Given the description of an element on the screen output the (x, y) to click on. 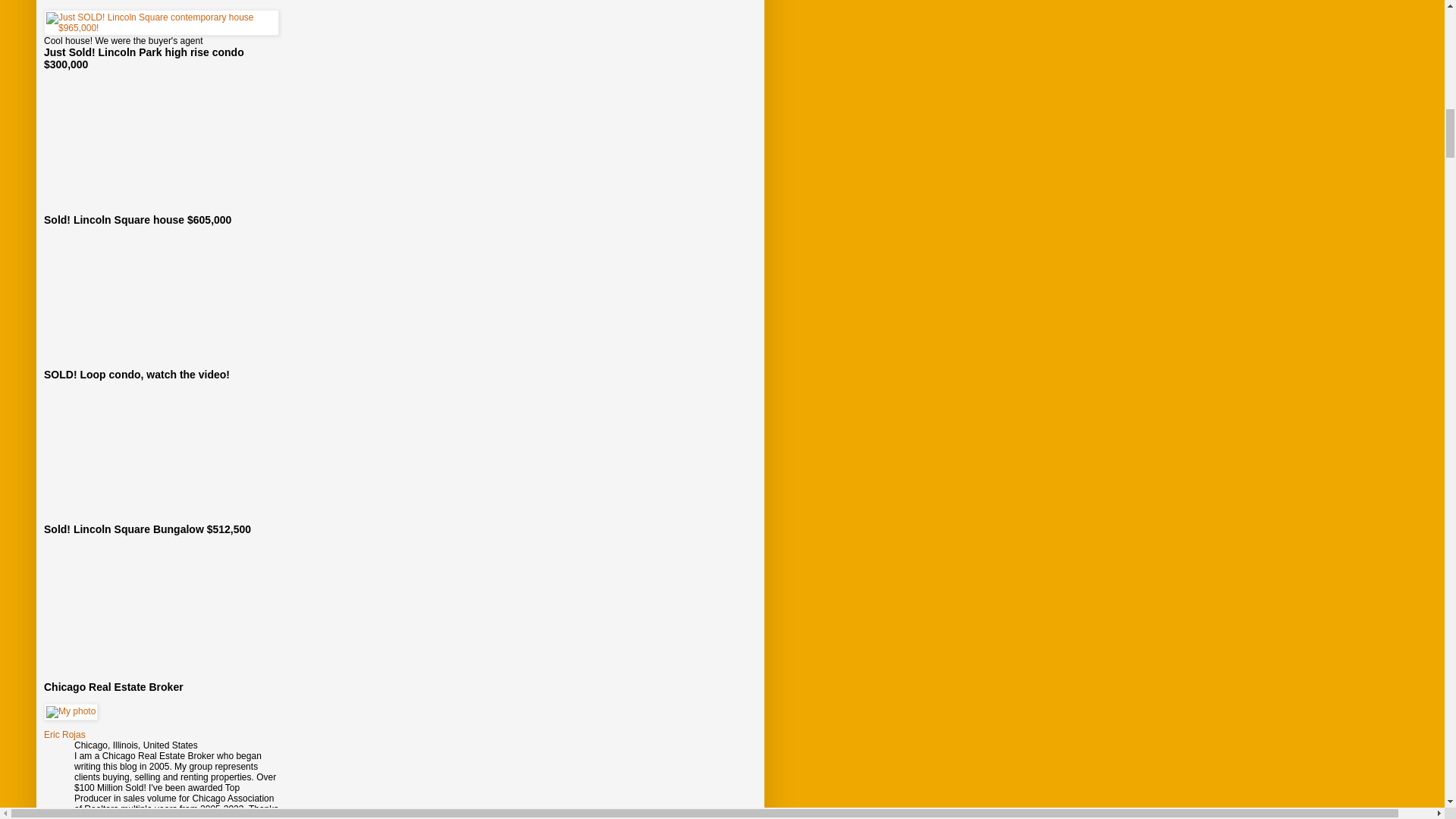
Eric Rojas (64, 734)
